Given the description of an element on the screen output the (x, y) to click on. 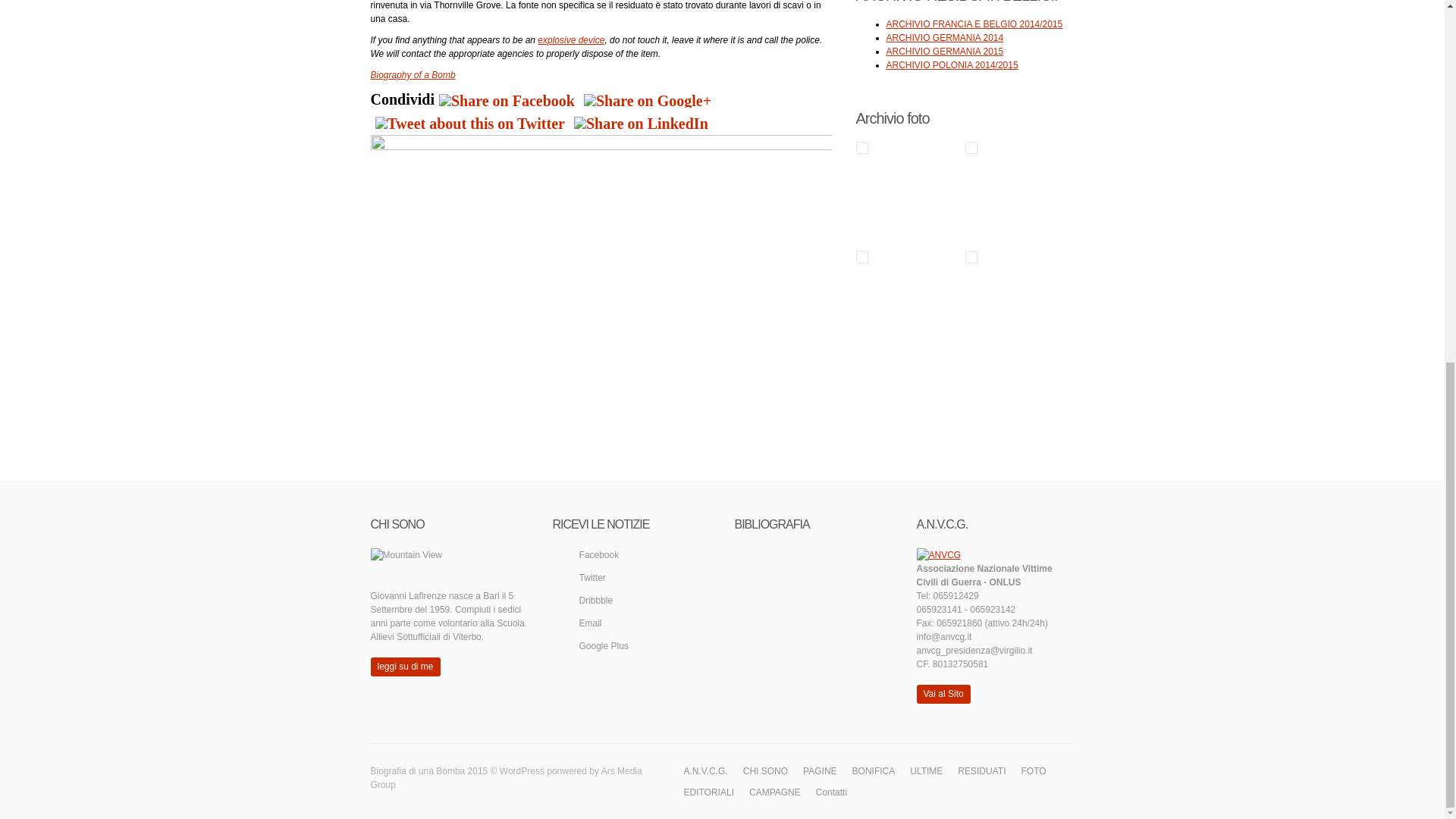
explosive device (570, 40)
Biography of a Bomb (411, 74)
Twitter (469, 123)
Colleghi Bcm (908, 302)
LinkedIn (641, 123)
RESIDUATI BELLICI (1016, 193)
Foto BCM (908, 193)
Facebook (506, 100)
